Given the description of an element on the screen output the (x, y) to click on. 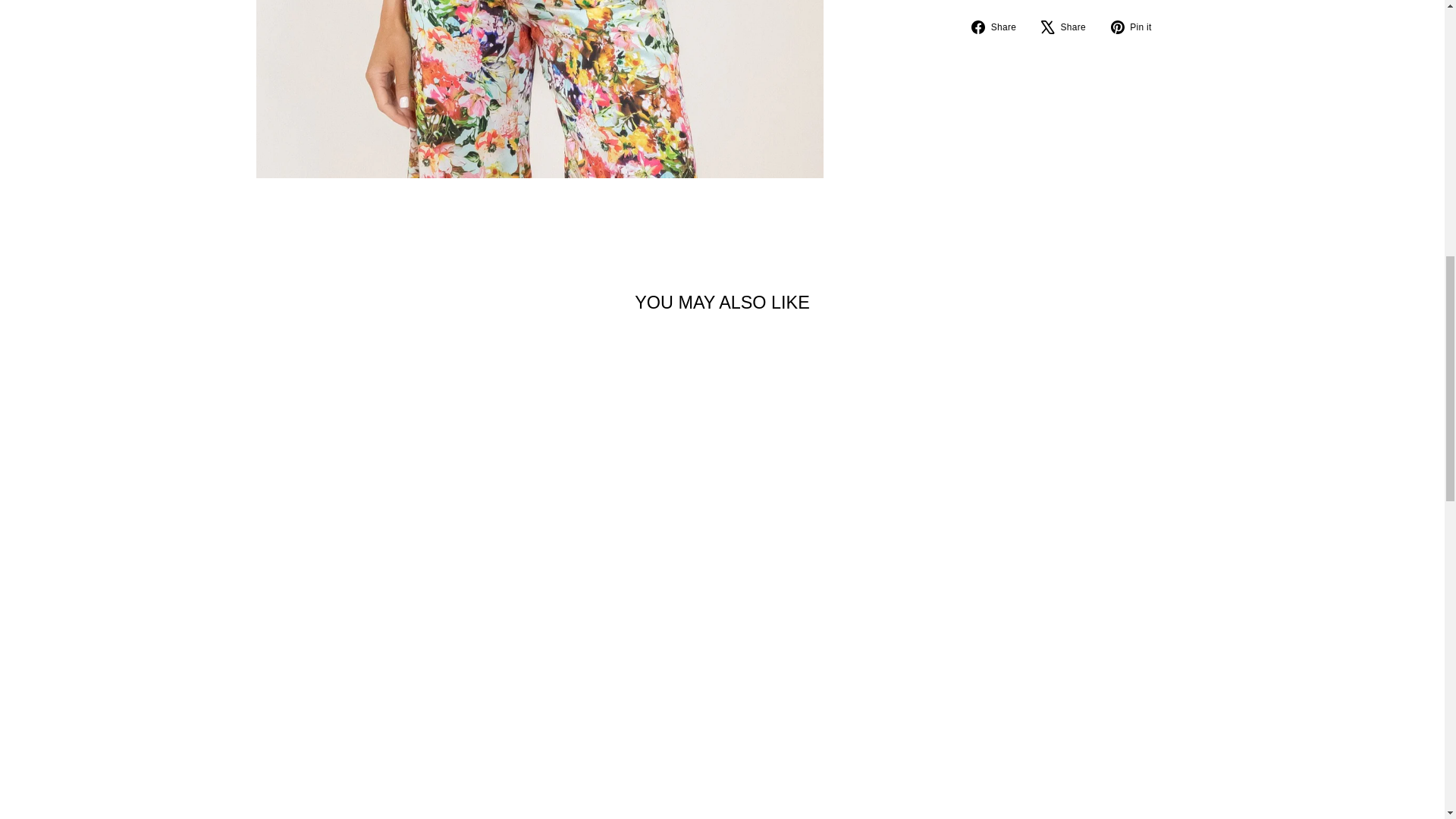
Share on Facebook (999, 27)
Tweet on X (1069, 27)
Pin on Pinterest (1136, 27)
